Given the description of an element on the screen output the (x, y) to click on. 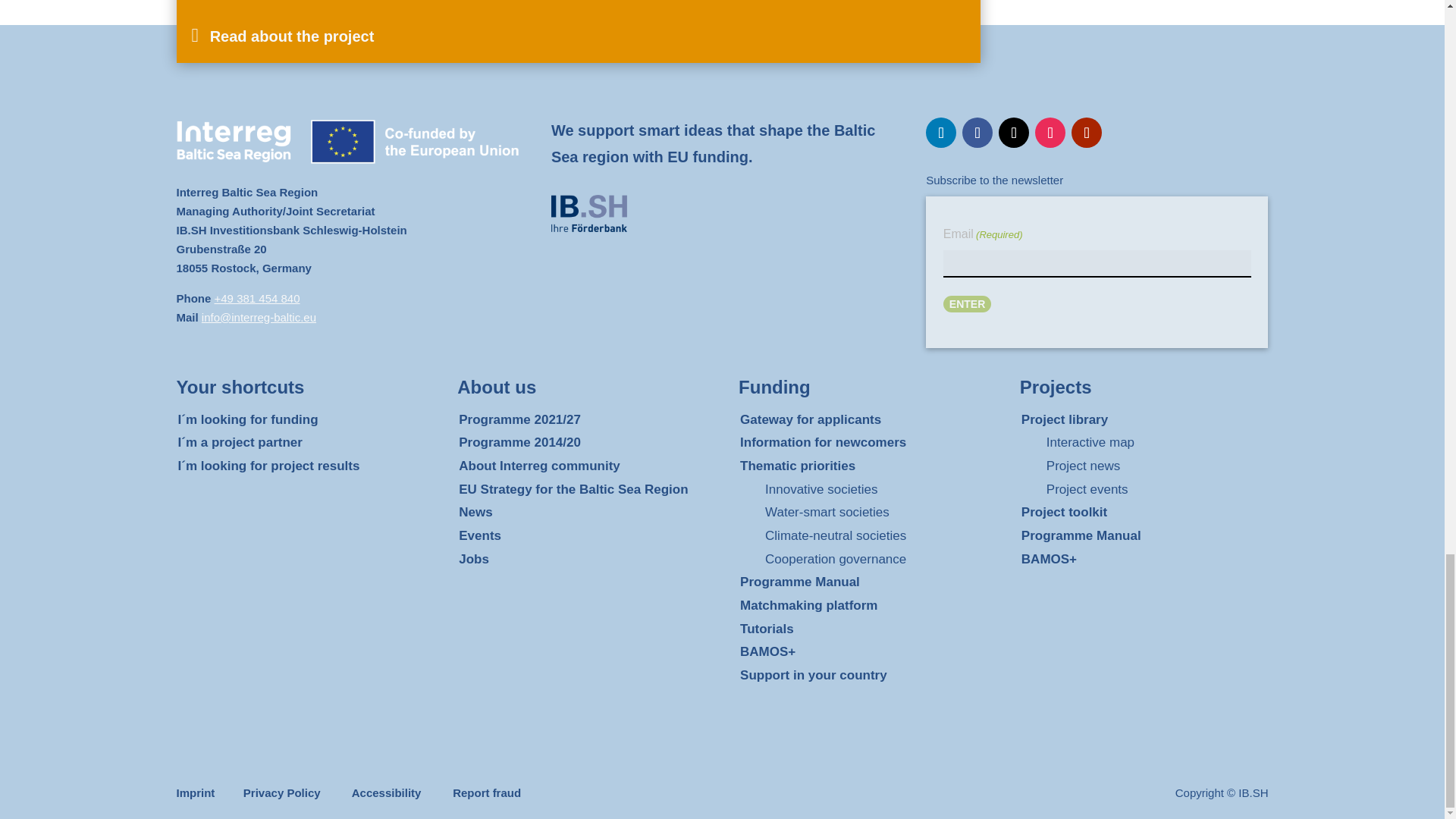
Follow on Facebook (977, 132)
logo (589, 212)
Follow on Instagram (1050, 132)
Follow on X (1013, 132)
Follow on Youtube (1086, 132)
Follow on LinkedIn (941, 132)
Enter (967, 303)
